Given the description of an element on the screen output the (x, y) to click on. 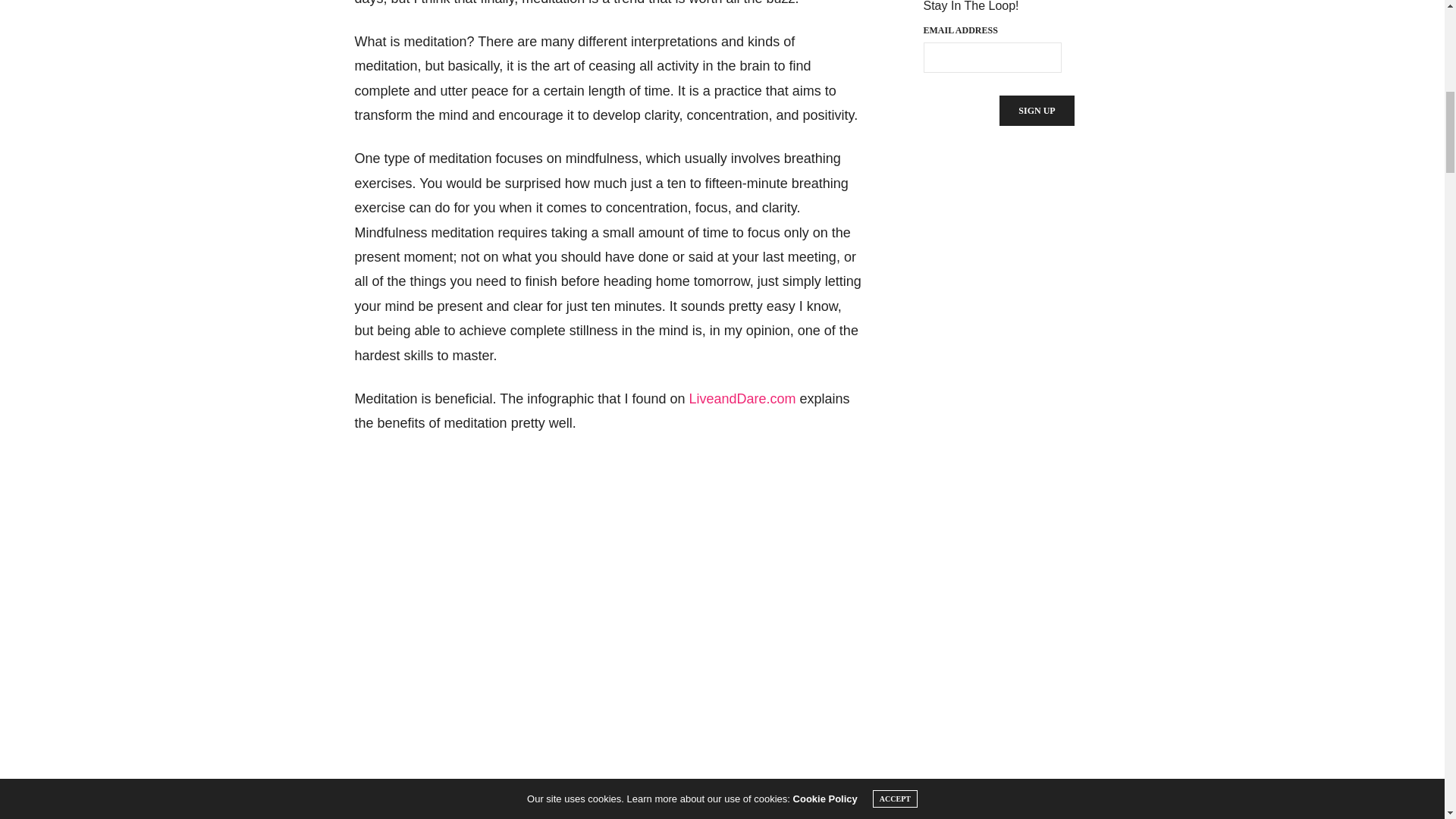
Sign Up (1036, 110)
